Given the description of an element on the screen output the (x, y) to click on. 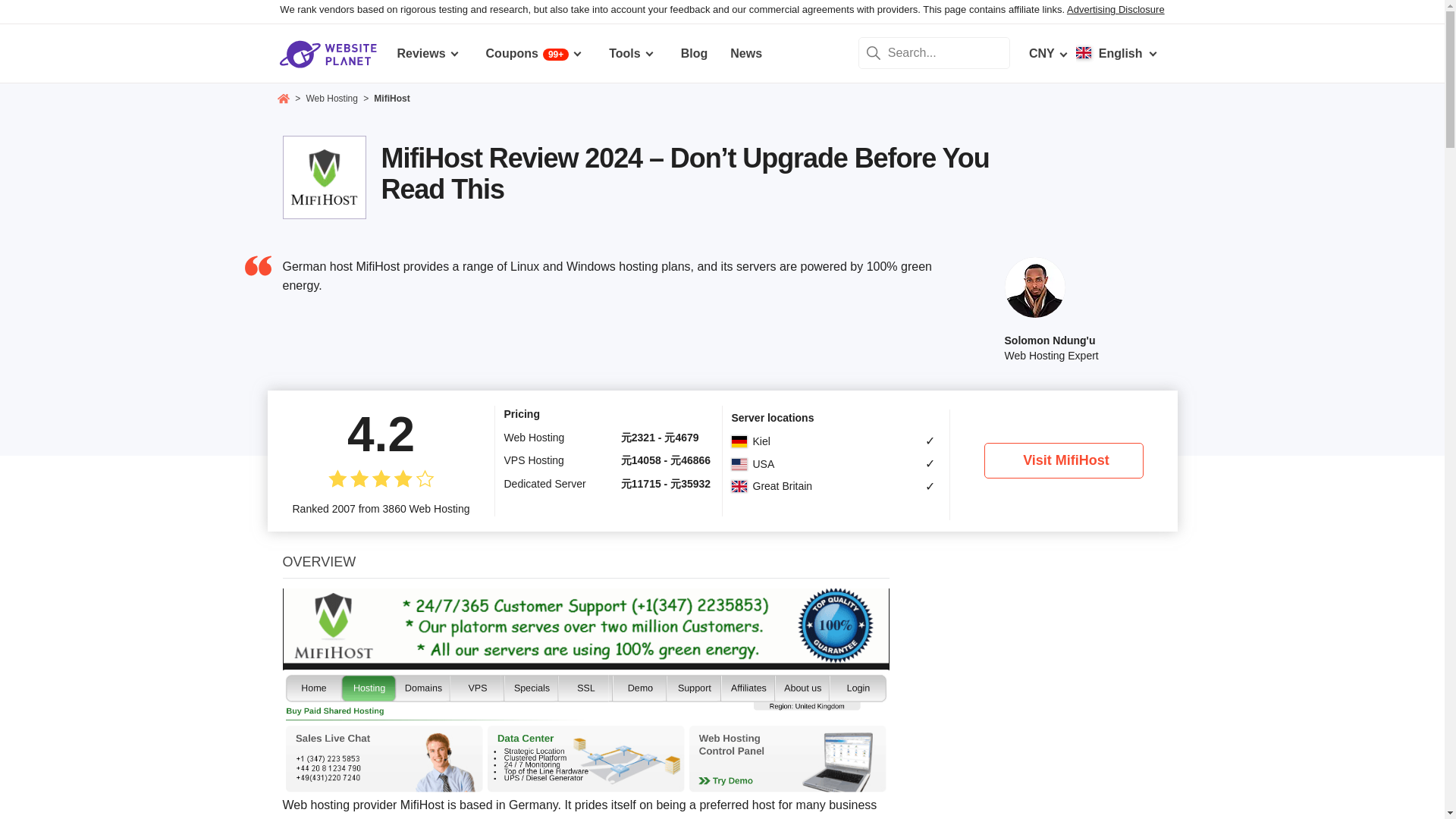
Search (873, 52)
Advertising Disclosure (1115, 9)
Search (873, 52)
